Given the description of an element on the screen output the (x, y) to click on. 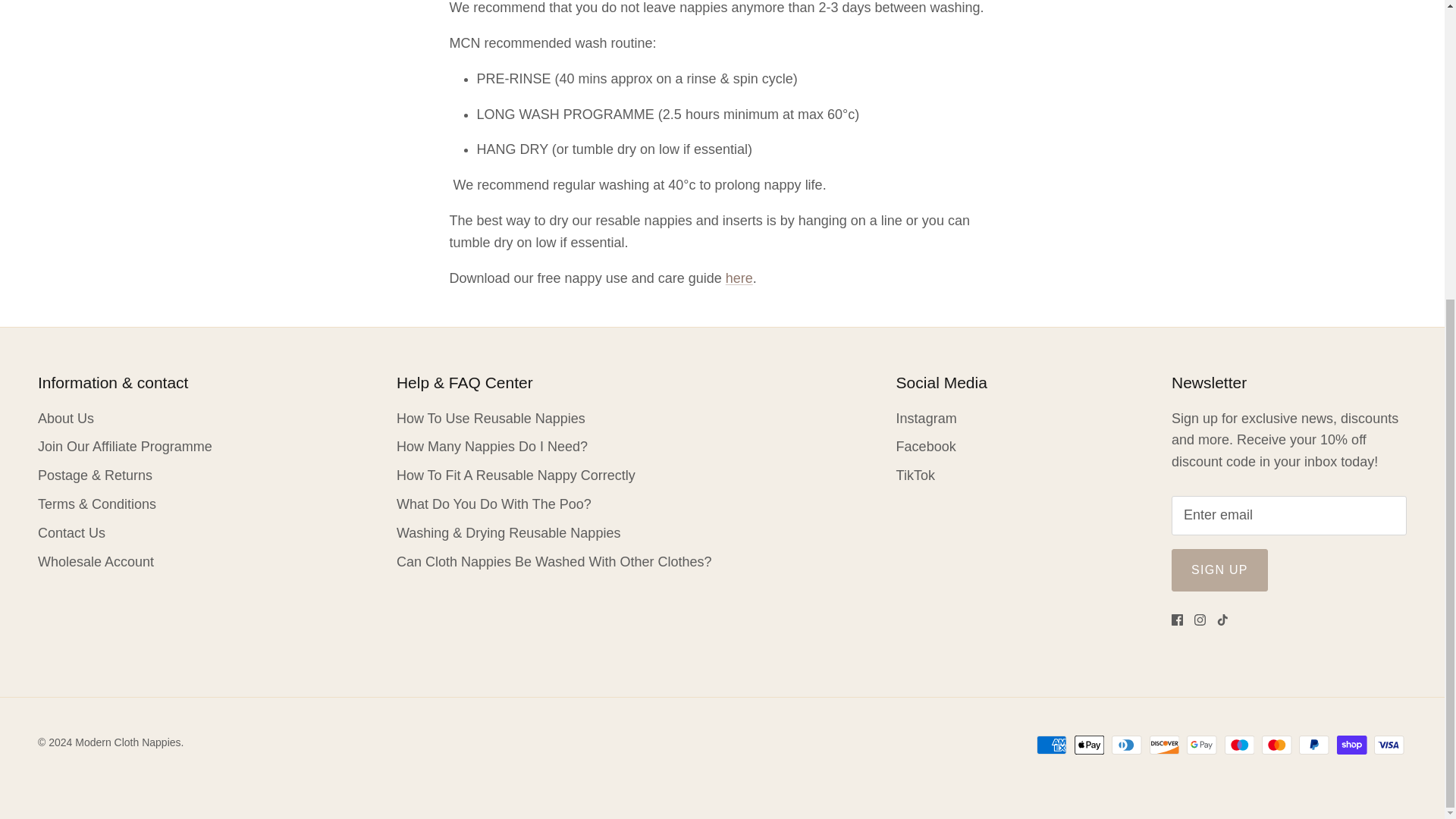
Instagram (1199, 619)
Visa (1388, 744)
American Express (1051, 744)
PayPal (1313, 744)
Maestro (1239, 744)
Facebook (1177, 619)
Mastercard (1276, 744)
Shop Pay (1351, 744)
Apple Pay (1089, 744)
Diners Club (1126, 744)
